Given the description of an element on the screen output the (x, y) to click on. 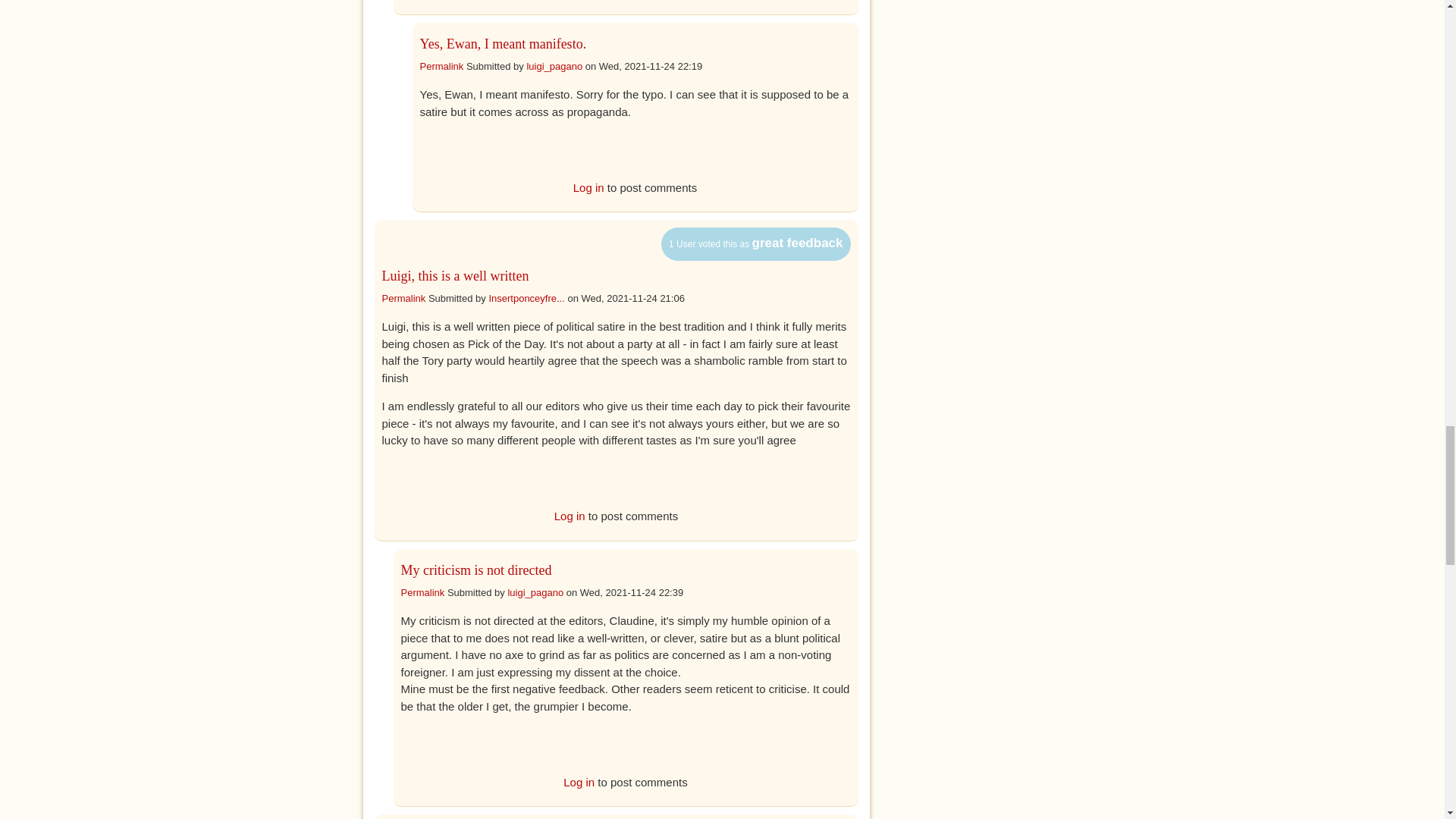
View user profile. (525, 297)
View user profile. (534, 592)
View user profile. (553, 66)
